Given the description of an element on the screen output the (x, y) to click on. 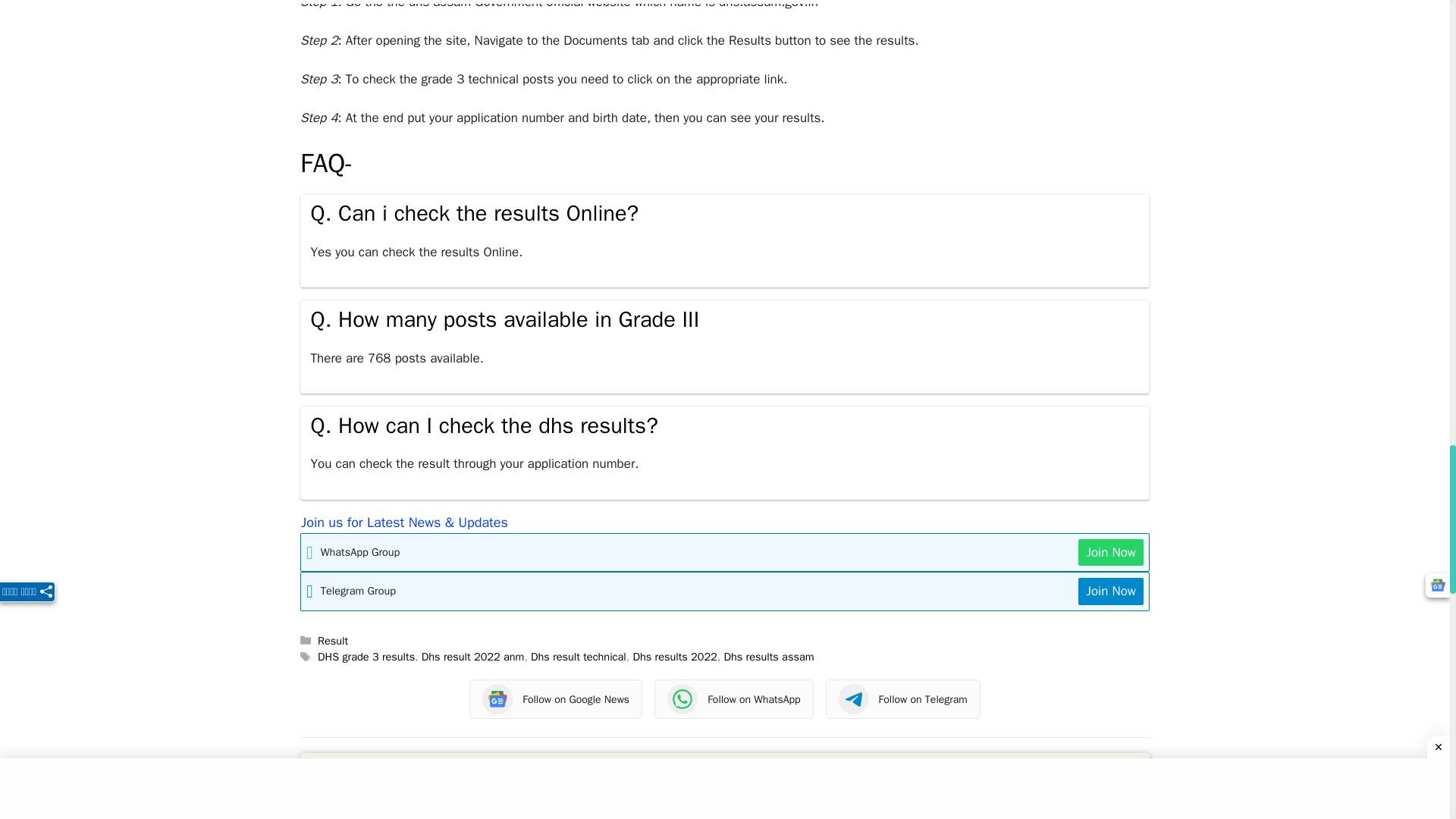
Follow on Telegram (902, 699)
DHS grade 3 results (365, 656)
... (421, 808)
Dhs result 2022 anm (473, 656)
Join Now (1110, 552)
Dhs results assam (768, 656)
Read more (421, 808)
Result (332, 640)
Dhs results 2022 (673, 656)
Follow on Google News (555, 699)
Dhs result technical (578, 656)
Follow on WhatsApp (732, 699)
Join Now (1110, 591)
